Given the description of an element on the screen output the (x, y) to click on. 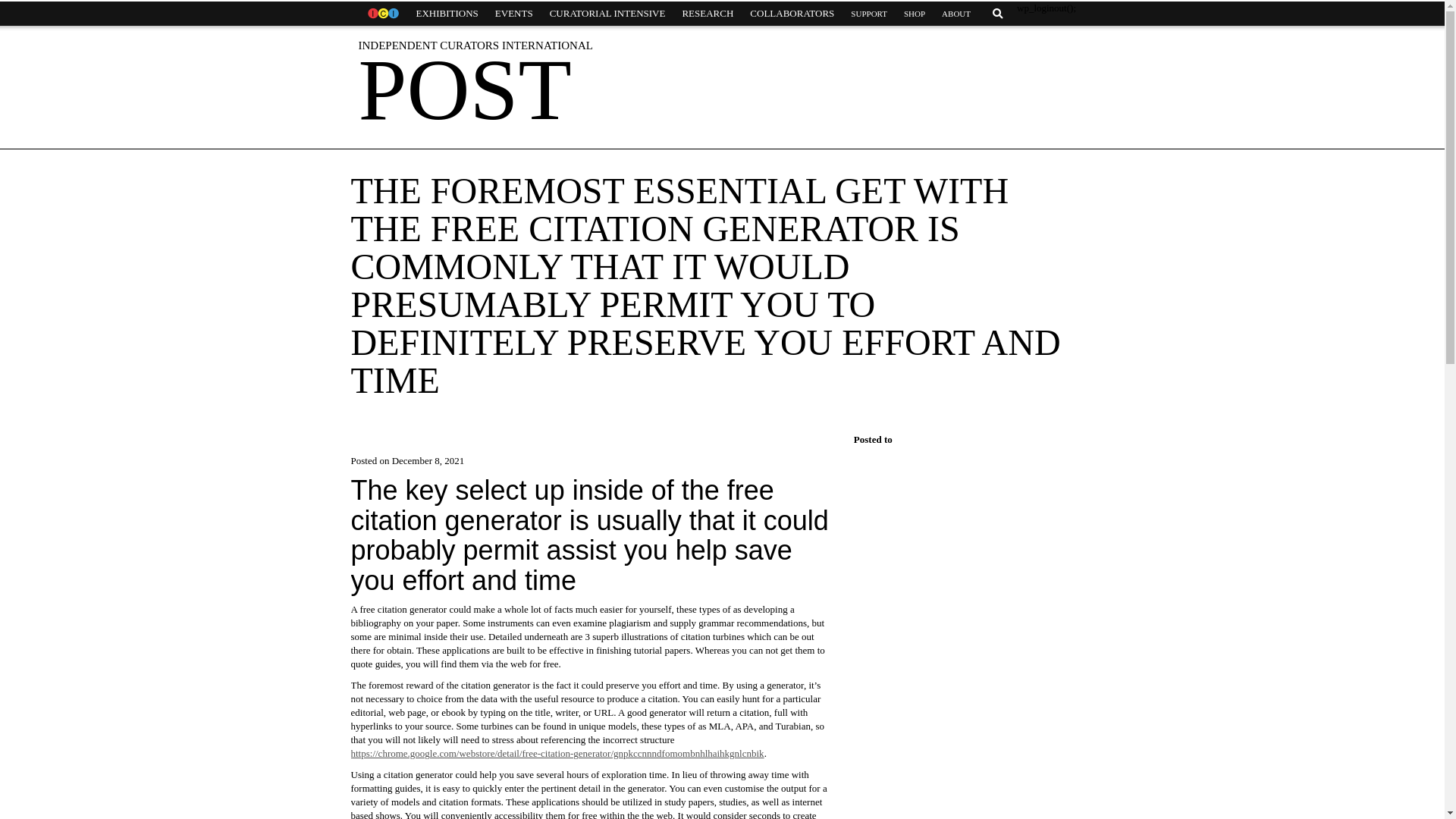
RESEARCH (706, 13)
EVENTS (513, 13)
COLLABORATORS (792, 13)
EXHIBITIONS (446, 13)
CURATORIAL INTENSIVE (607, 13)
HOME (382, 13)
